Given the description of an element on the screen output the (x, y) to click on. 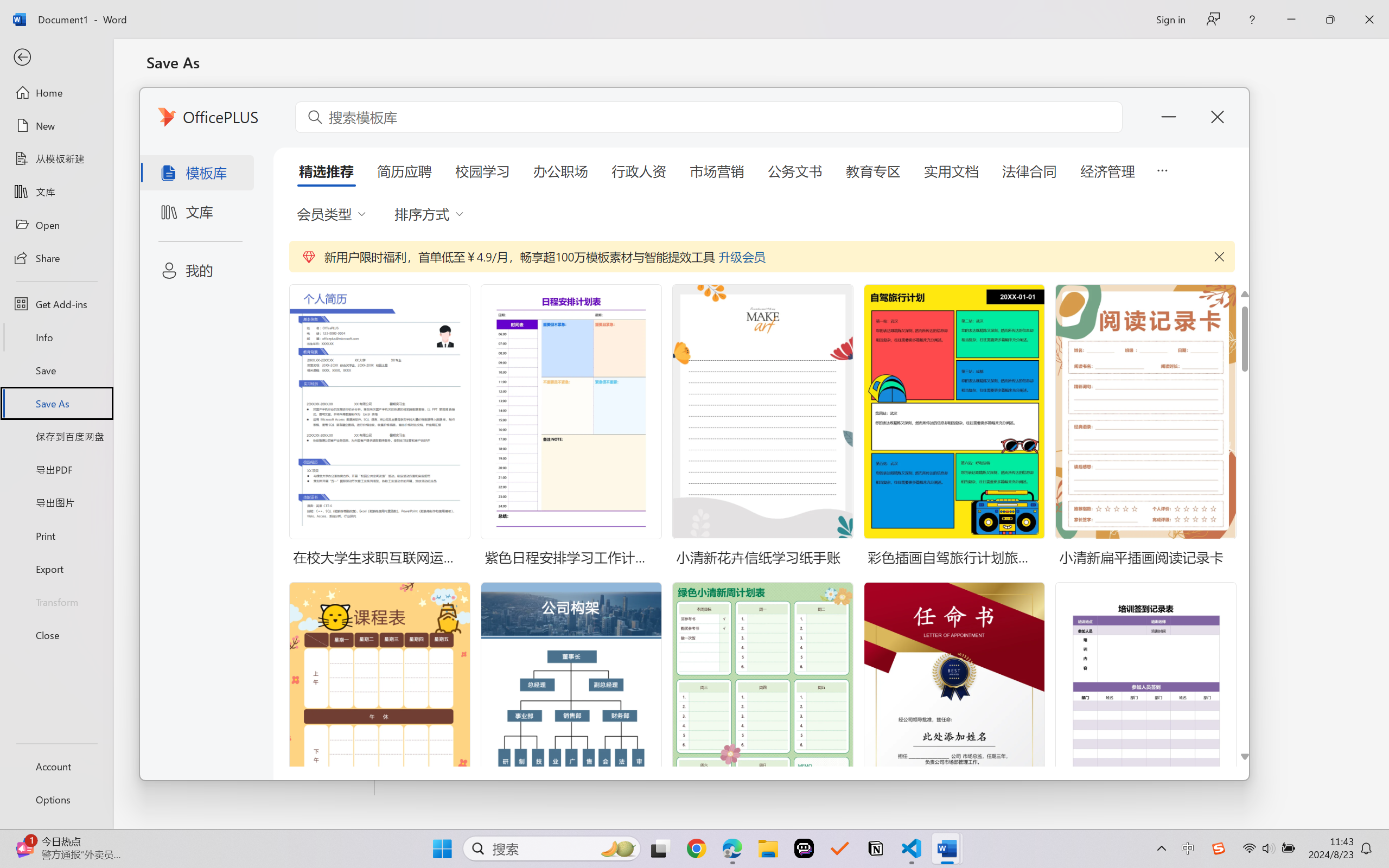
Transform (56, 601)
Browse (261, 397)
Info (56, 337)
Print (56, 535)
Get Add-ins (56, 303)
Account (56, 765)
